Given the description of an element on the screen output the (x, y) to click on. 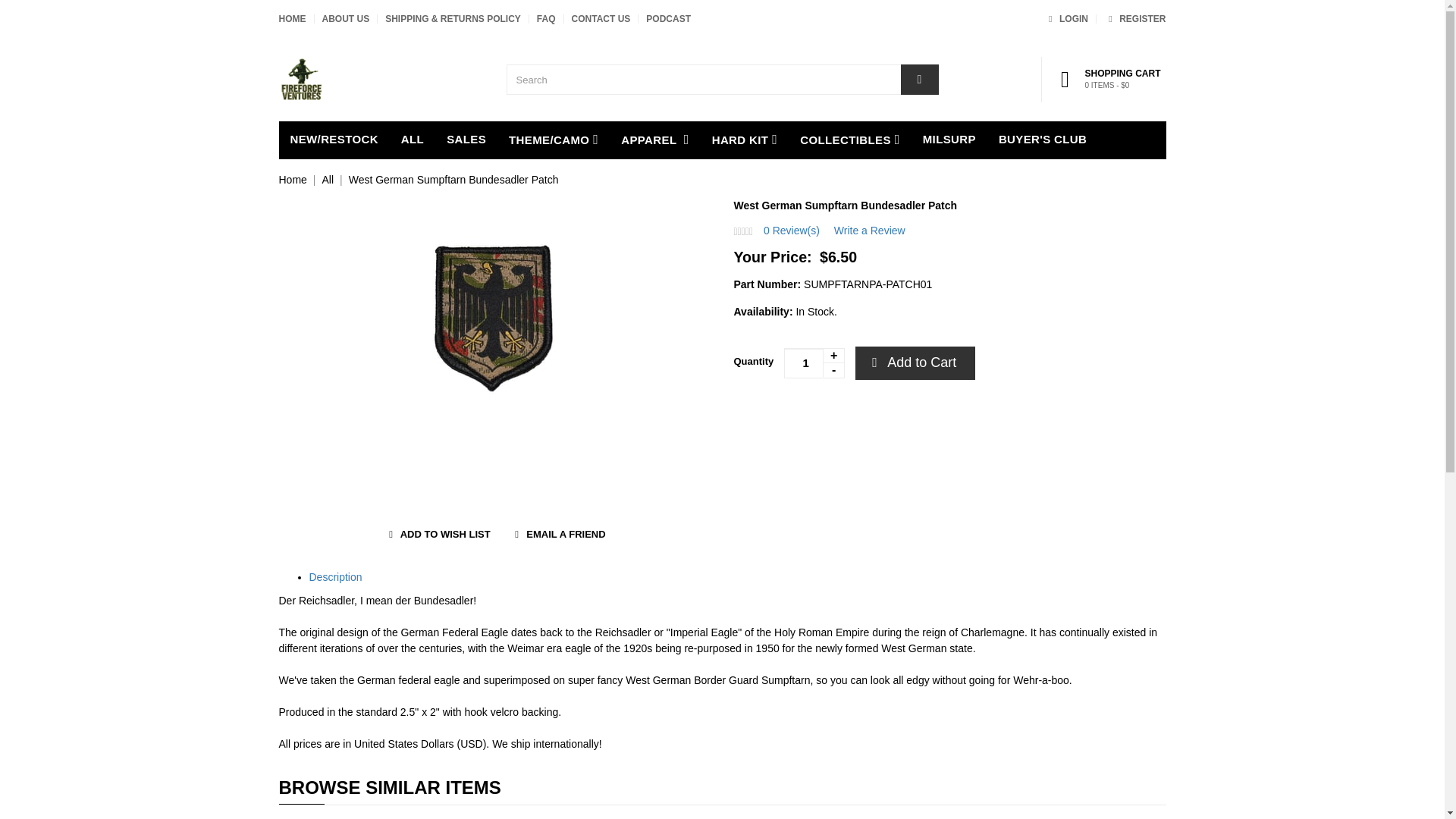
REGISTER (1134, 18)
1 (814, 363)
ABOUT US (345, 18)
LOGIN (1065, 18)
FAQ (546, 18)
CONTACT US (601, 18)
APPAREL (655, 139)
SALES (466, 139)
PODCAST (668, 18)
ALL (412, 139)
